Given the description of an element on the screen output the (x, y) to click on. 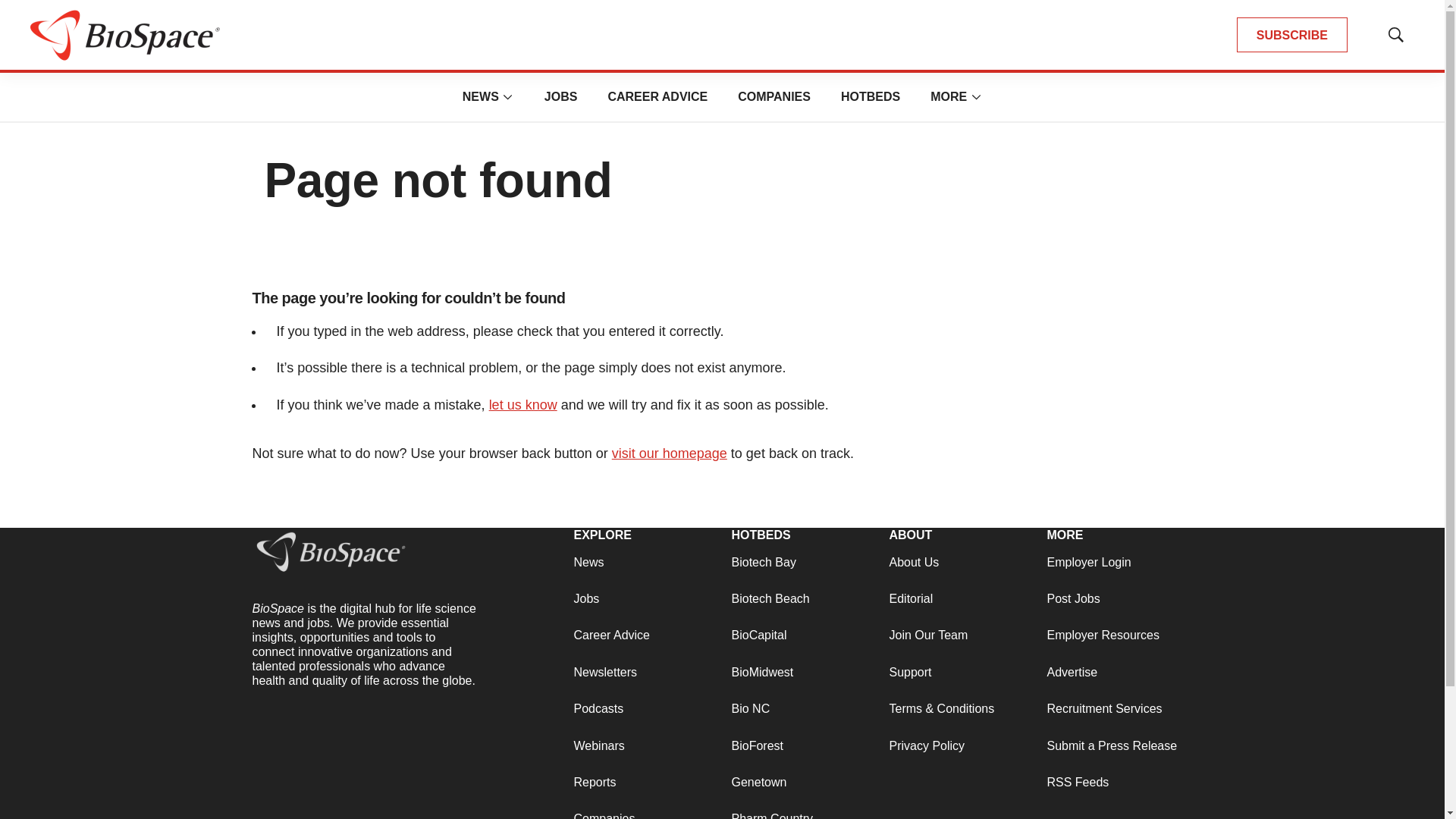
NEWS (481, 96)
Show Search (1395, 34)
SUBSCRIBE (1292, 34)
